Given the description of an element on the screen output the (x, y) to click on. 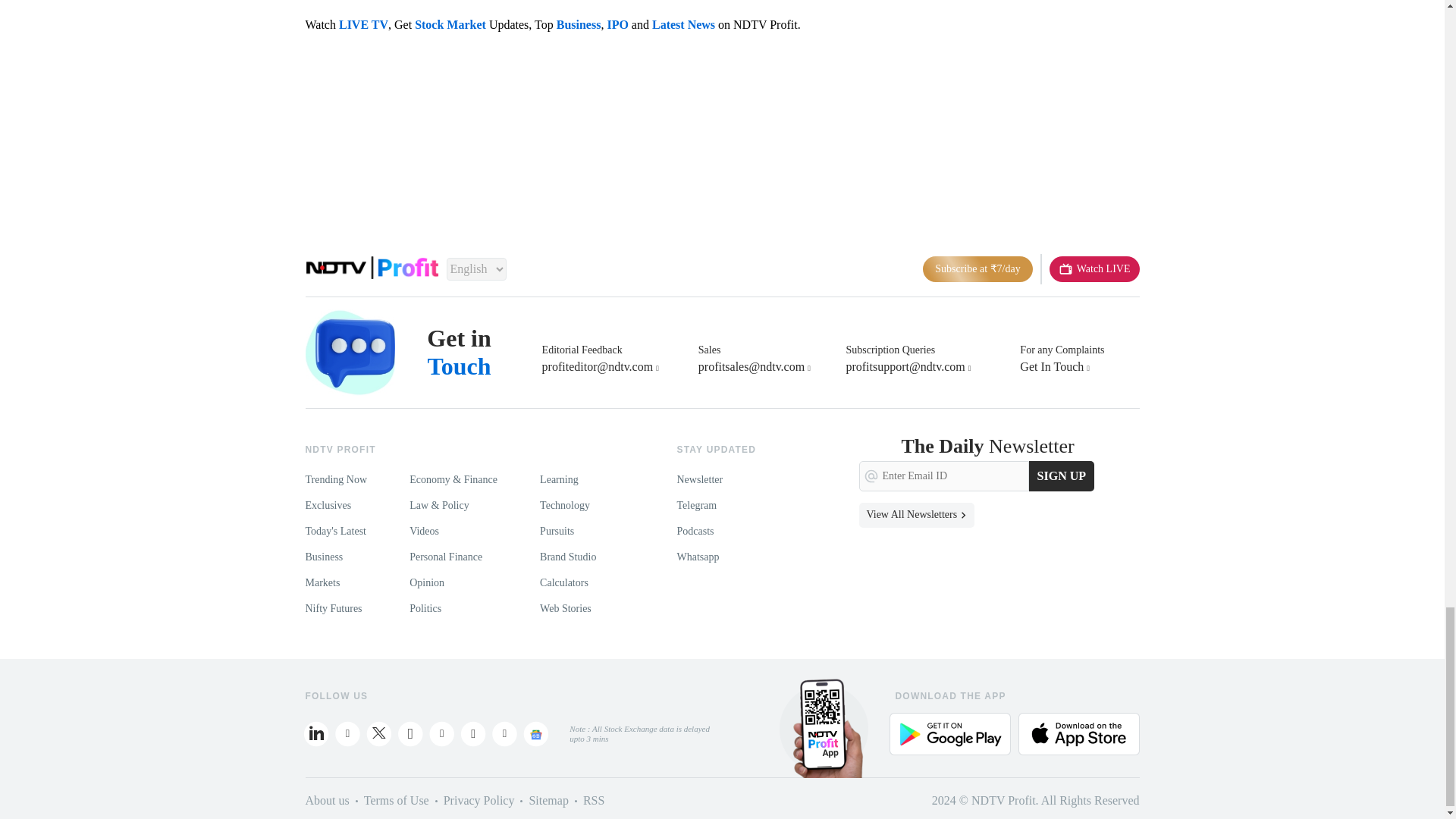
Live TV (1094, 268)
